Given the description of an element on the screen output the (x, y) to click on. 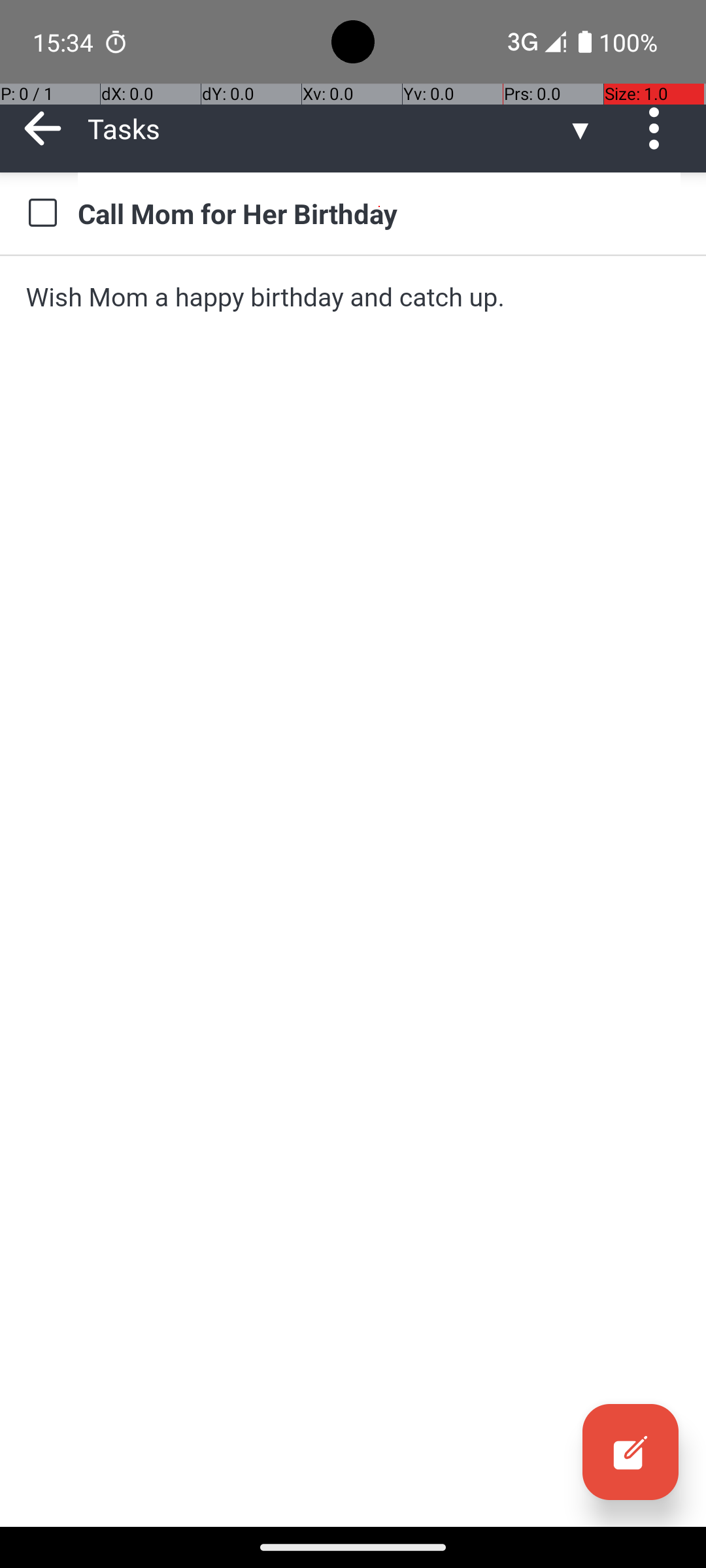
Call Mom for Her Birthday Element type: android.widget.EditText (378, 213)
Wish Mom a happy birthday and catch up. Element type: android.widget.TextView (352, 296)
